Given the description of an element on the screen output the (x, y) to click on. 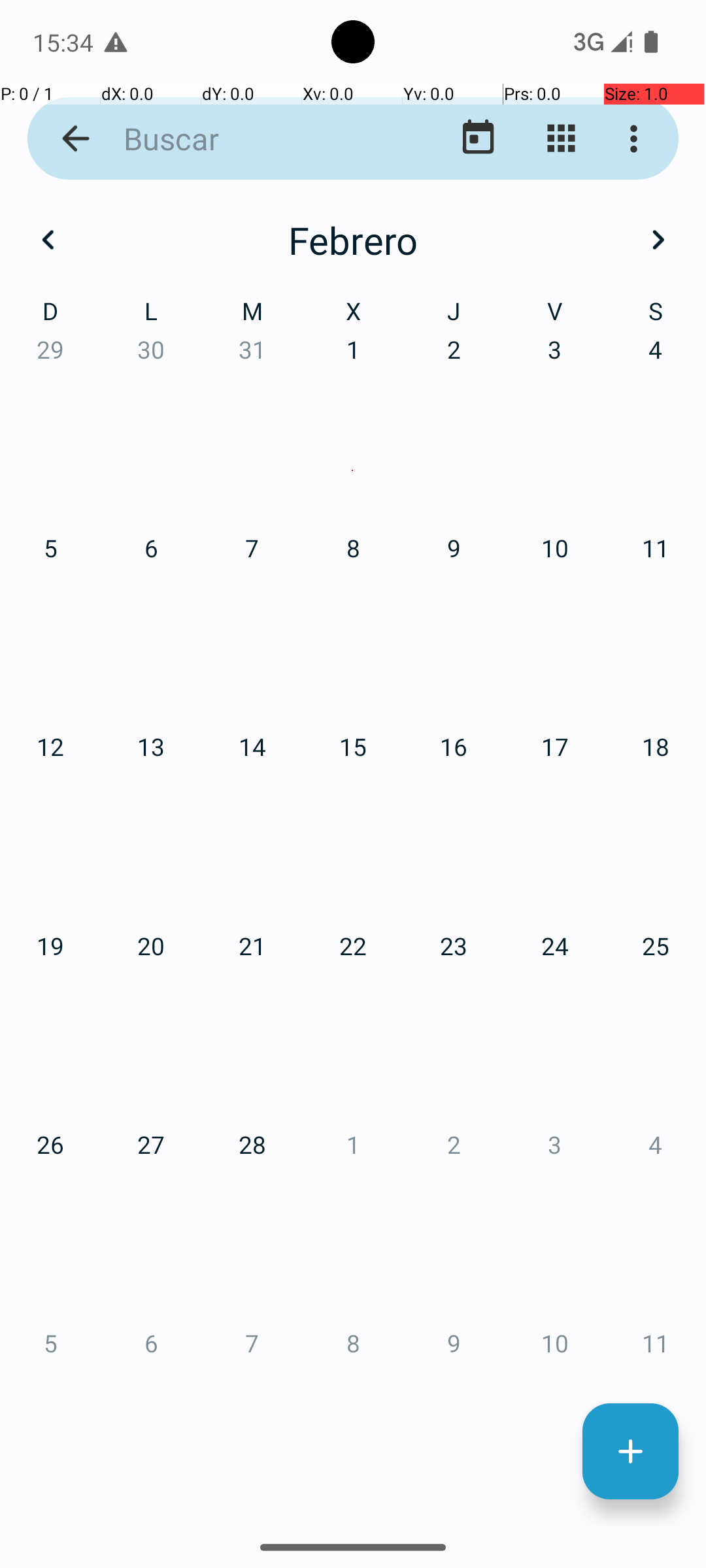
Ir al día de hoy Element type: android.widget.Button (477, 138)
ENERO Element type: android.widget.TextView (123, 319)
FEBRERO Element type: android.widget.TextView (352, 319)
MARZO Element type: android.widget.TextView (582, 319)
ABRIL Element type: android.widget.TextView (123, 621)
MAYO Element type: android.widget.TextView (352, 621)
JUNIO Element type: android.widget.TextView (582, 621)
JULIO Element type: android.widget.TextView (123, 923)
AGOSTO Element type: android.widget.TextView (352, 923)
SEPTIEMBRE Element type: android.widget.TextView (582, 923)
OCTUBRE Element type: android.widget.TextView (123, 1224)
NOVIEMBRE Element type: android.widget.TextView (352, 1224)
DICIEMBRE Element type: android.widget.TextView (582, 1224)
Febrero Element type: android.widget.TextView (352, 239)
